Given the description of an element on the screen output the (x, y) to click on. 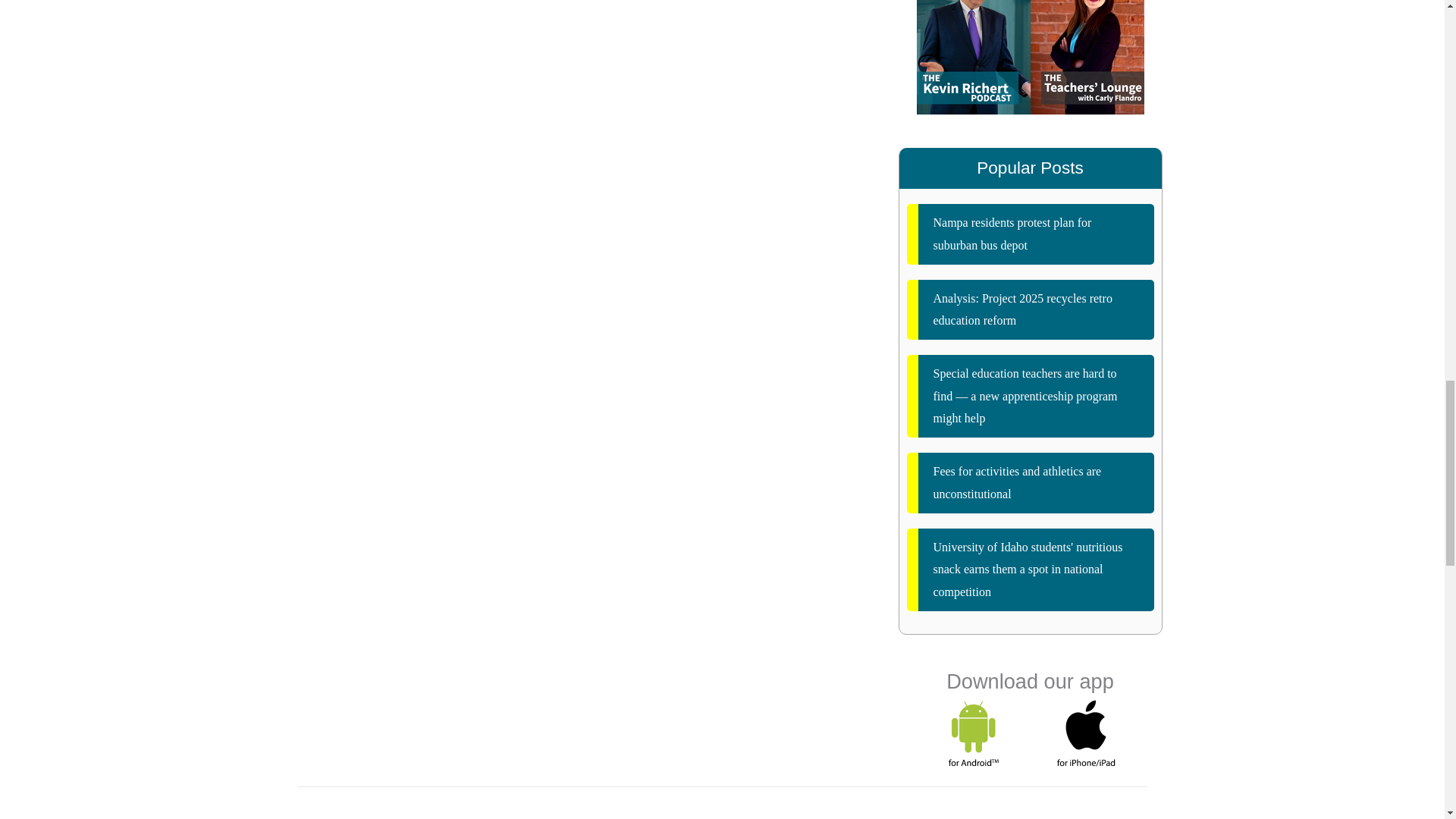
Fees for activities and athletics are unconstitutional (1030, 482)
Analysis: Project 2025 recycles retro education reform (1030, 309)
Nampa residents protest plan for suburban bus depot (1030, 233)
